Given the description of an element on the screen output the (x, y) to click on. 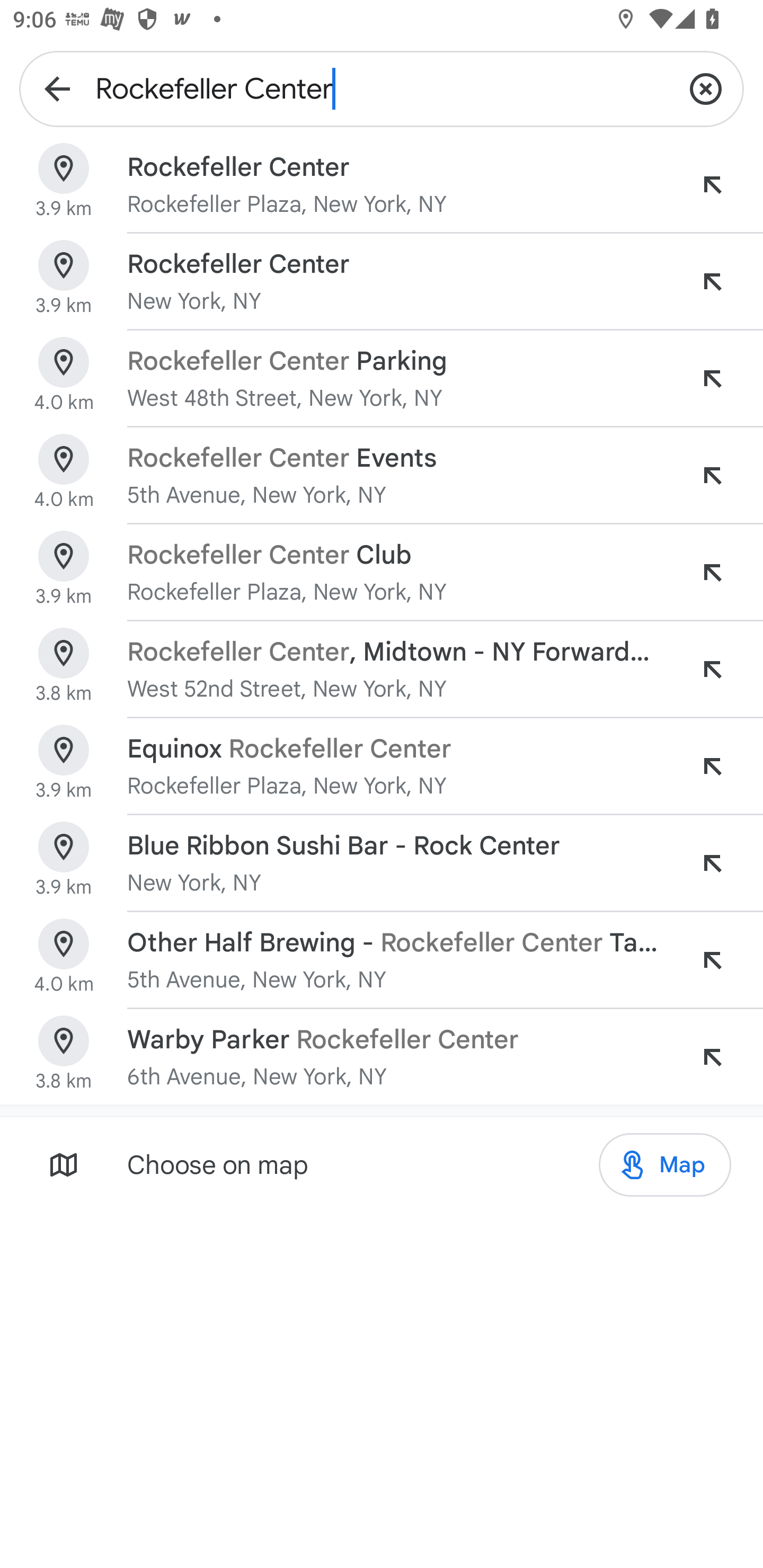
Navigate up (57, 88)
Rockefeller Center (381, 88)
Clear (705, 88)
Choose on map Map Map Map (381, 1164)
Map Map Map (664, 1164)
